Given the description of an element on the screen output the (x, y) to click on. 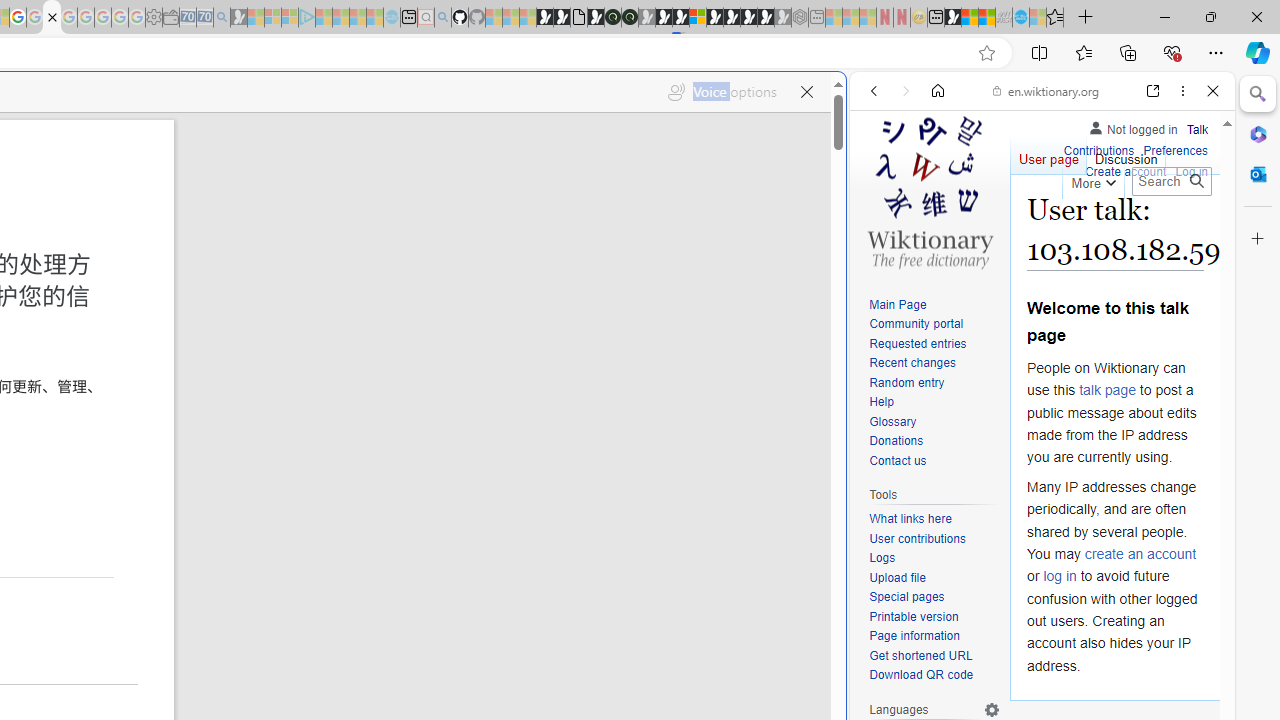
Get shortened URL (920, 655)
Preferences (1175, 151)
WEB   (882, 228)
Upload file (934, 578)
Play Cave FRVR in your browser | Games from Microsoft Start (663, 17)
User contributions (917, 538)
Frequently visited (418, 265)
Help (881, 402)
Main Page (897, 303)
MSN (952, 17)
Log in (1191, 172)
